Given the description of an element on the screen output the (x, y) to click on. 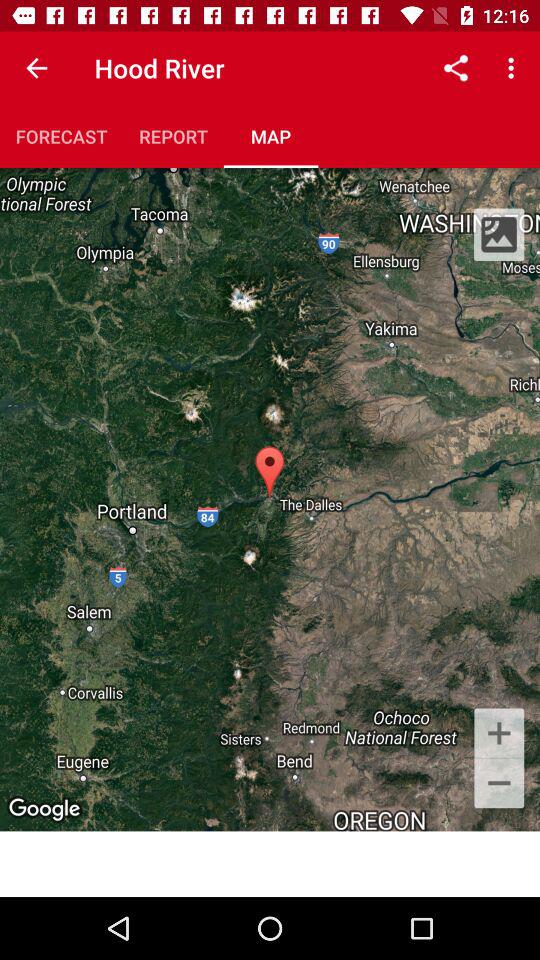
select item to the right of the hood river icon (455, 67)
